Given the description of an element on the screen output the (x, y) to click on. 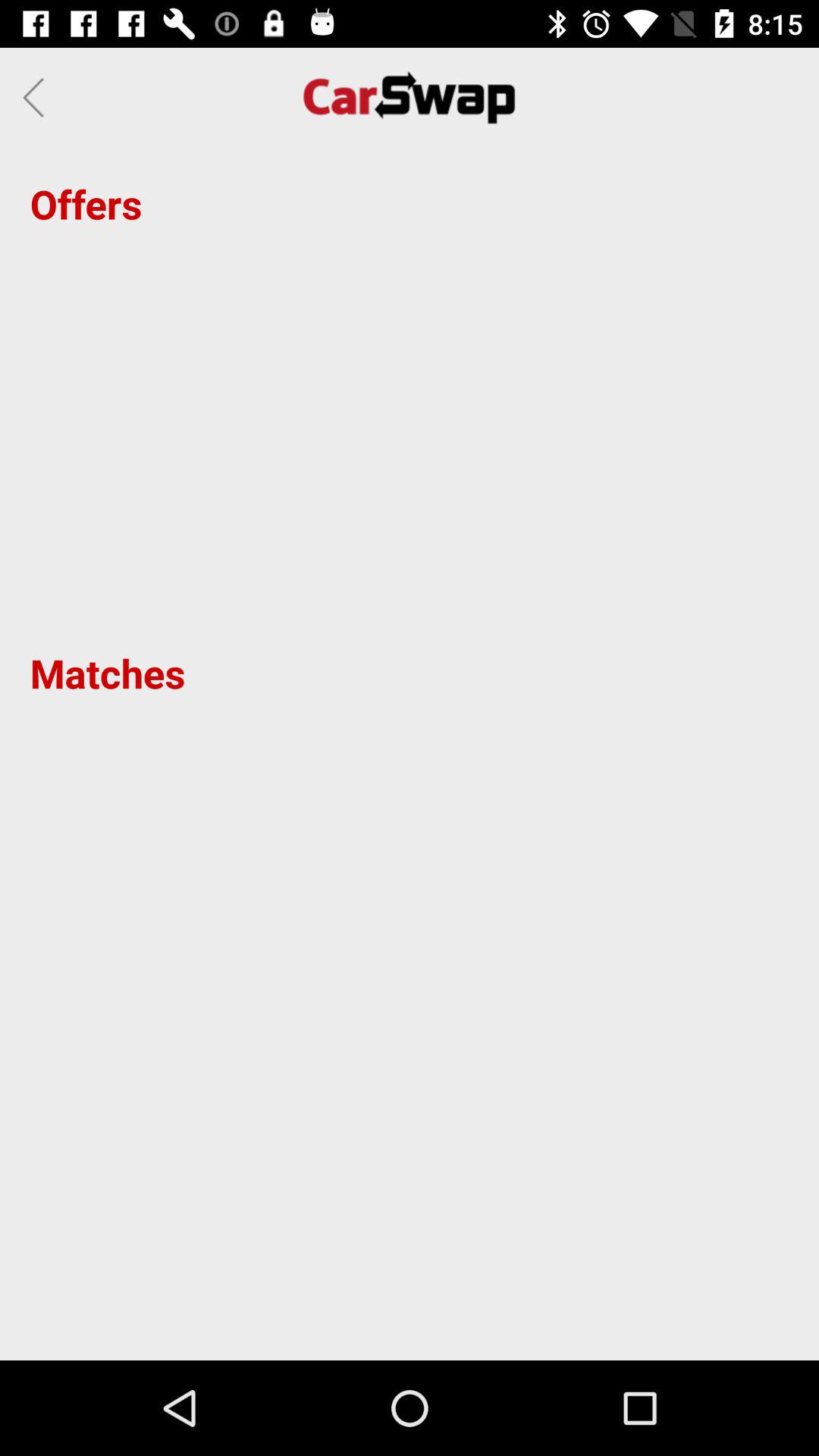
go back (38, 97)
